Given the description of an element on the screen output the (x, y) to click on. 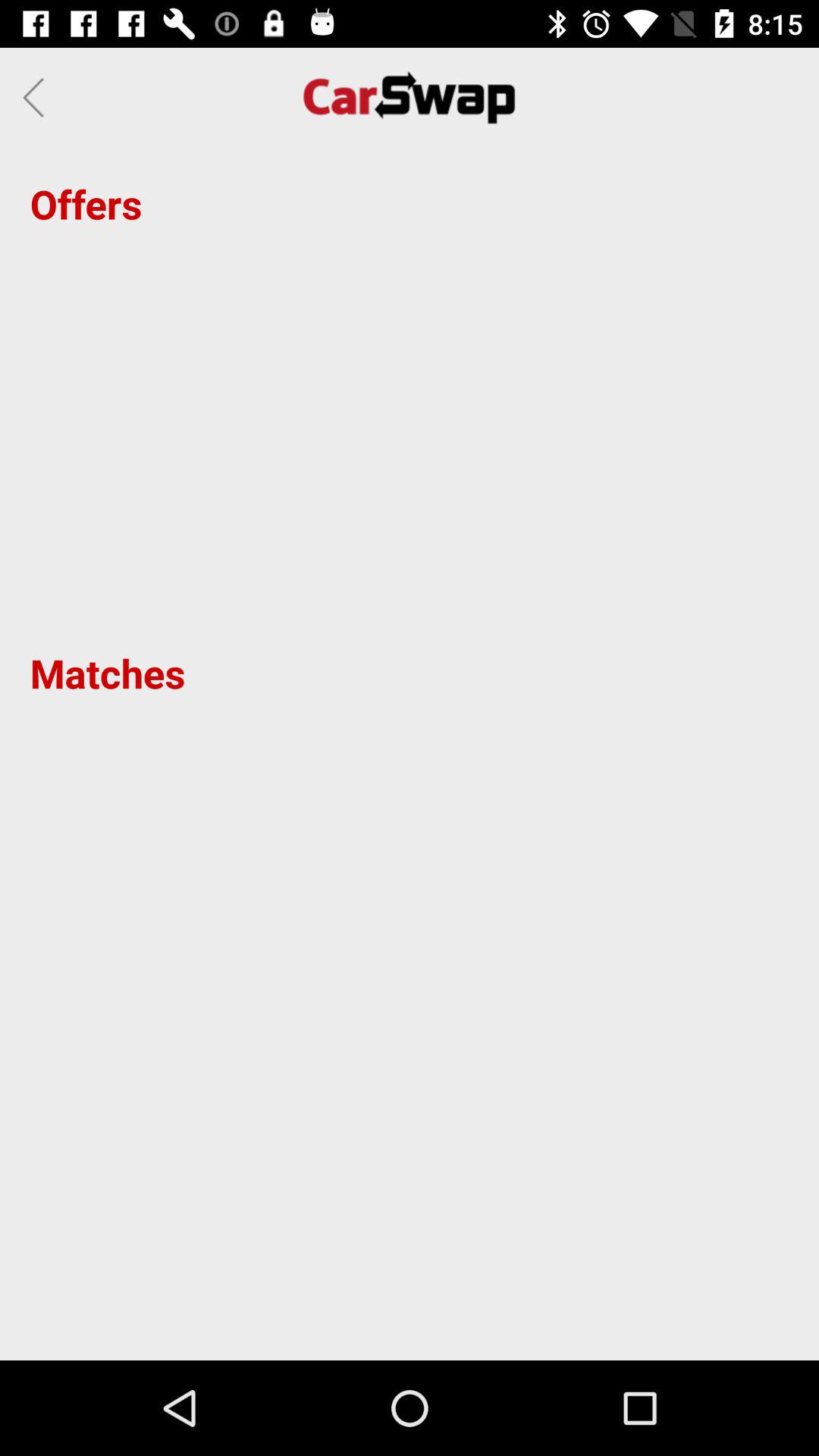
go back (38, 97)
